Given the description of an element on the screen output the (x, y) to click on. 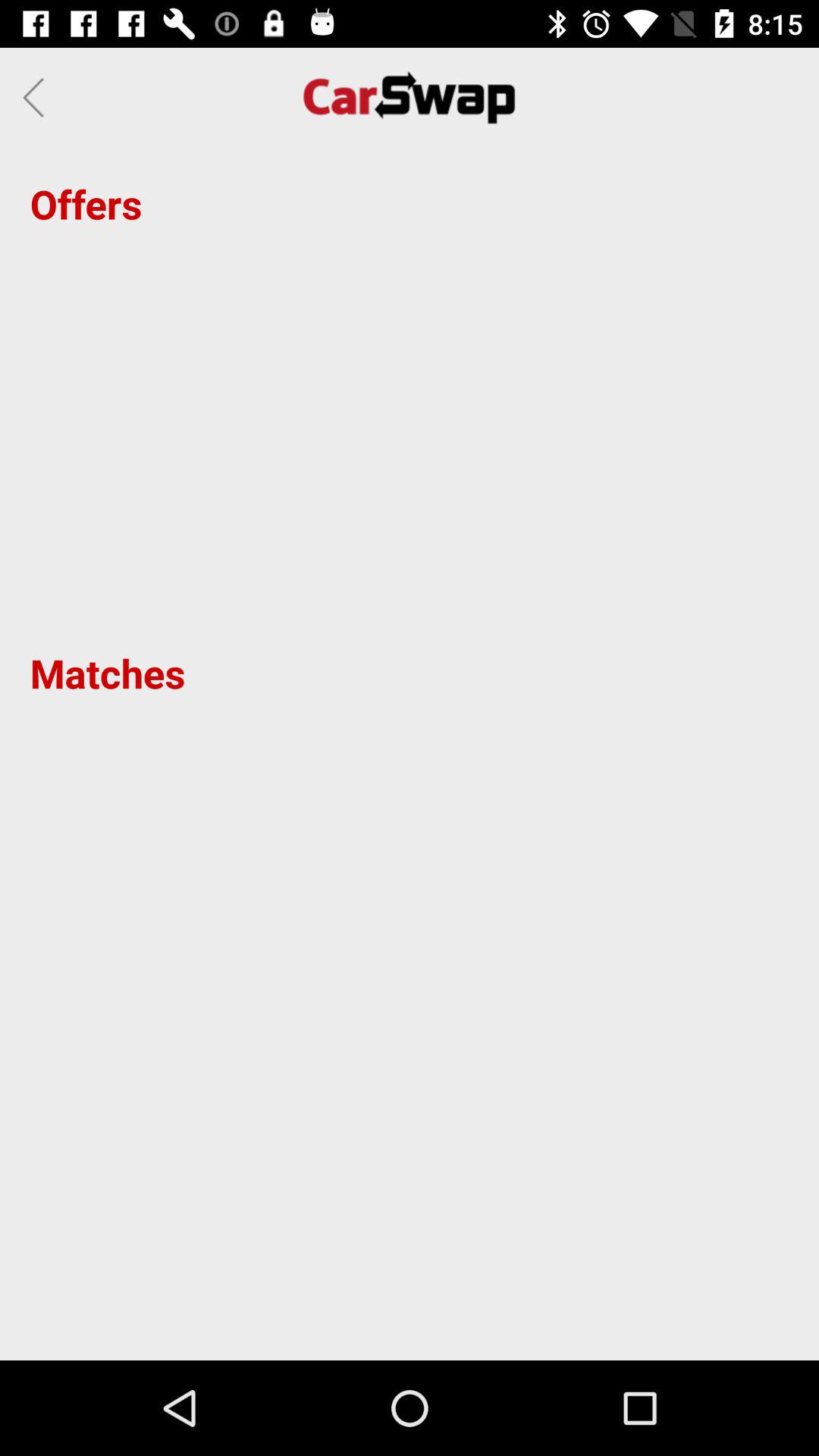
go back (38, 97)
